Given the description of an element on the screen output the (x, y) to click on. 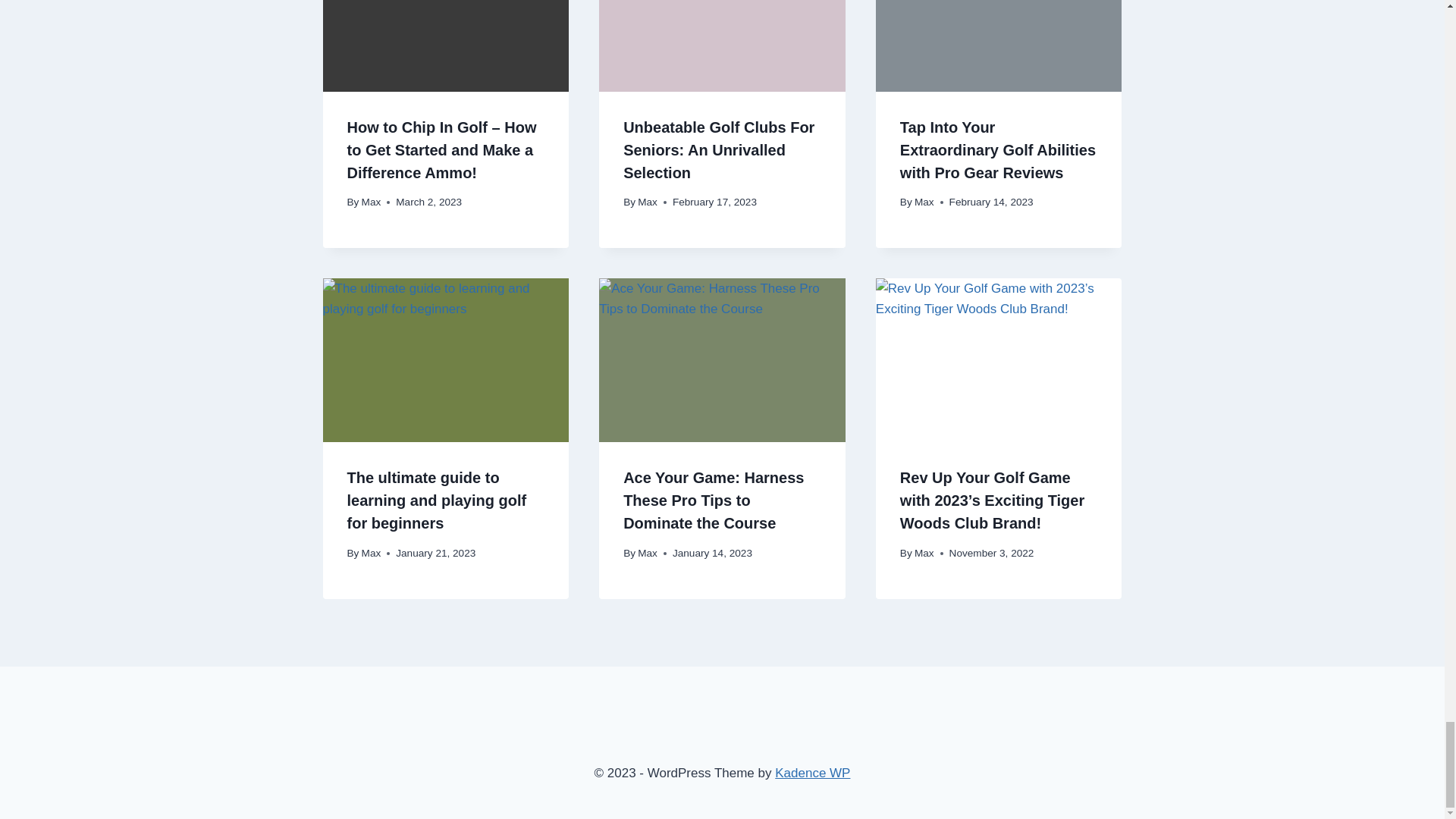
Unbeatable Golf Clubs For Seniors: An Unrivalled Selection (718, 149)
Max (371, 202)
Max (647, 202)
